Given the description of an element on the screen output the (x, y) to click on. 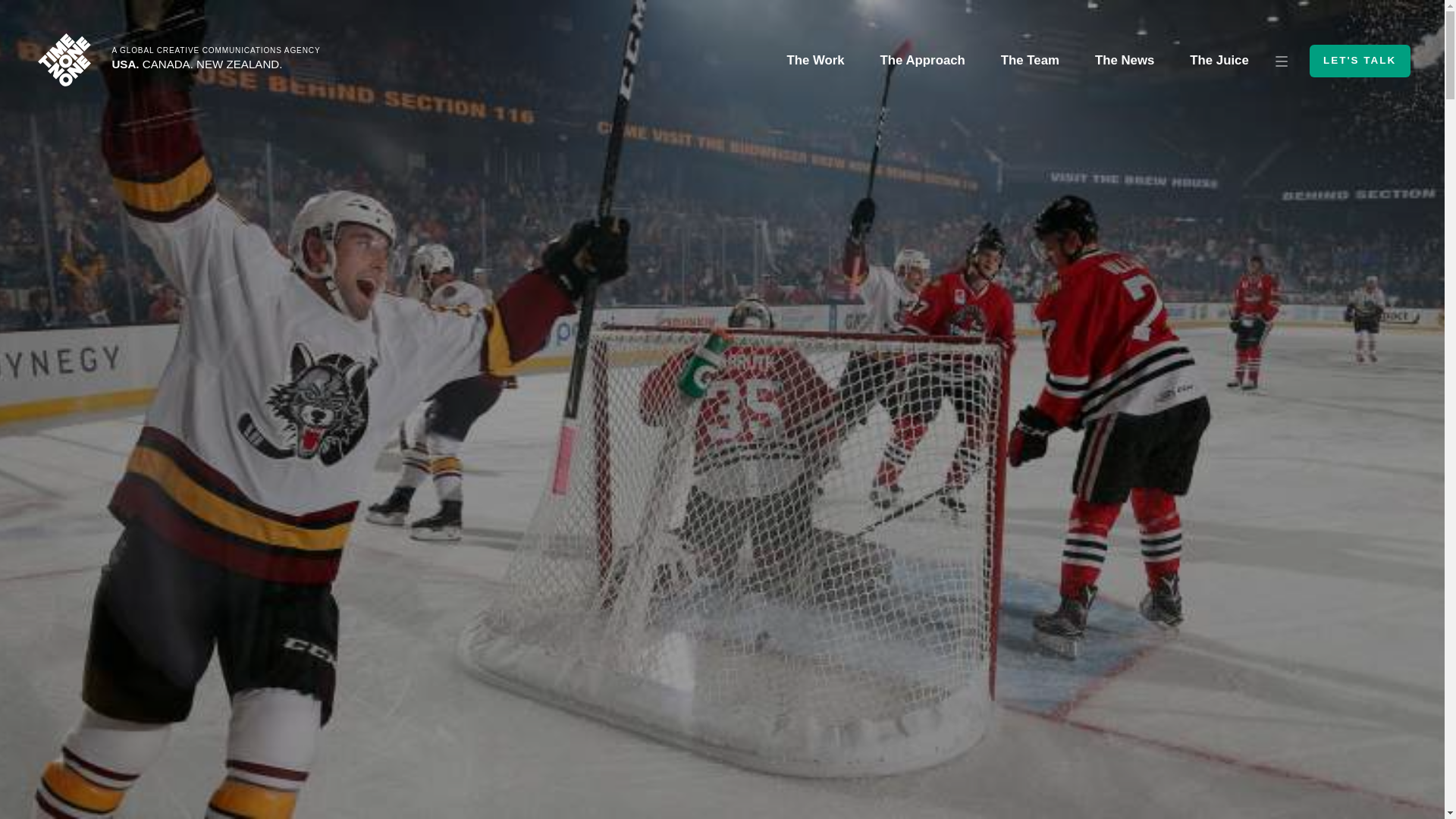
The Work (814, 60)
Let's Talk (1359, 60)
The News (1124, 60)
The Work (814, 60)
The Approach (921, 60)
The Approach (921, 60)
The Team (1029, 60)
More (1281, 60)
The Juice (1219, 60)
The Juice (1219, 60)
